Given the description of an element on the screen output the (x, y) to click on. 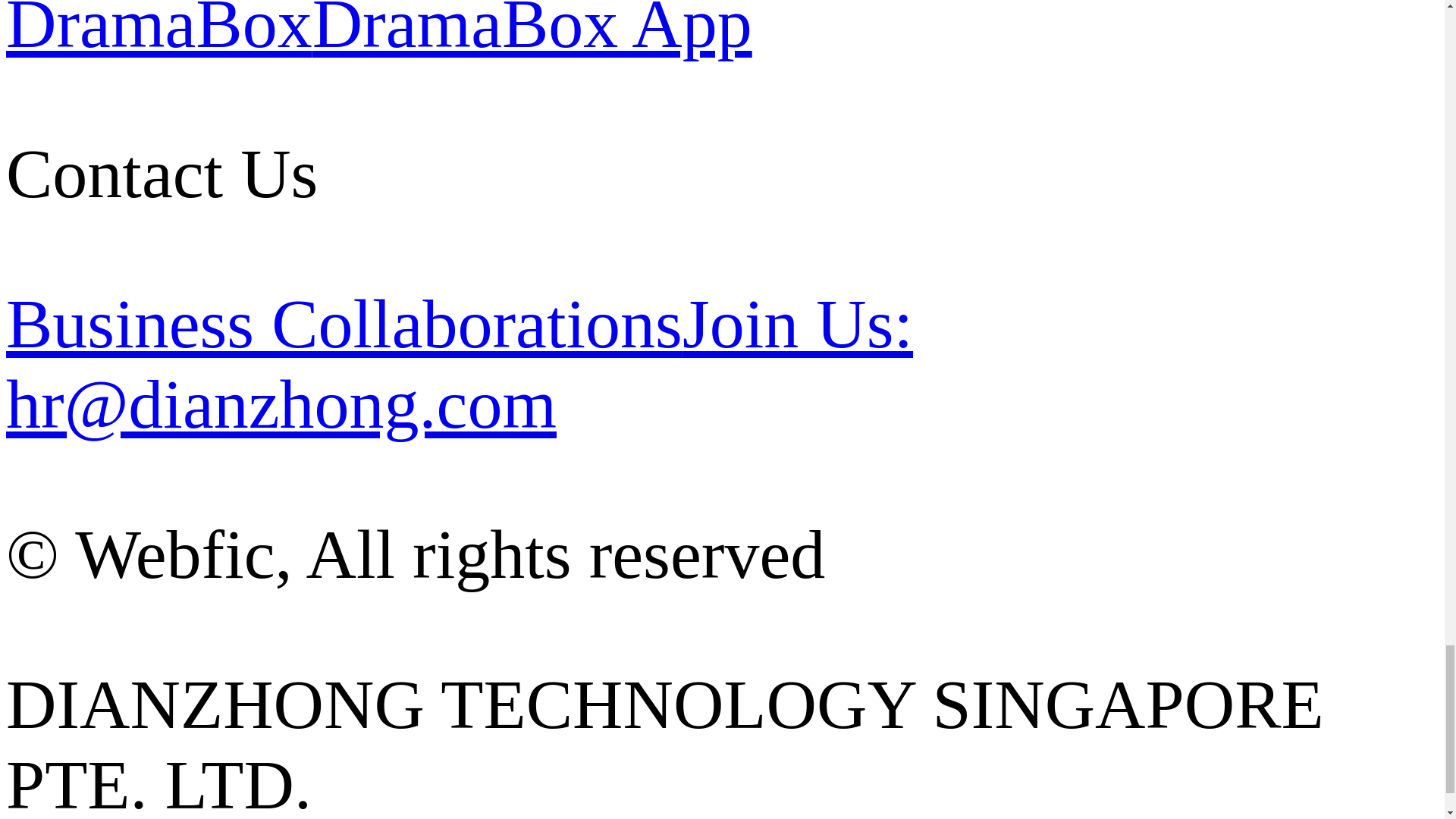
DramaBox (159, 31)
Business Collaborations (343, 323)
DramaBox App (532, 31)
